Given the description of an element on the screen output the (x, y) to click on. 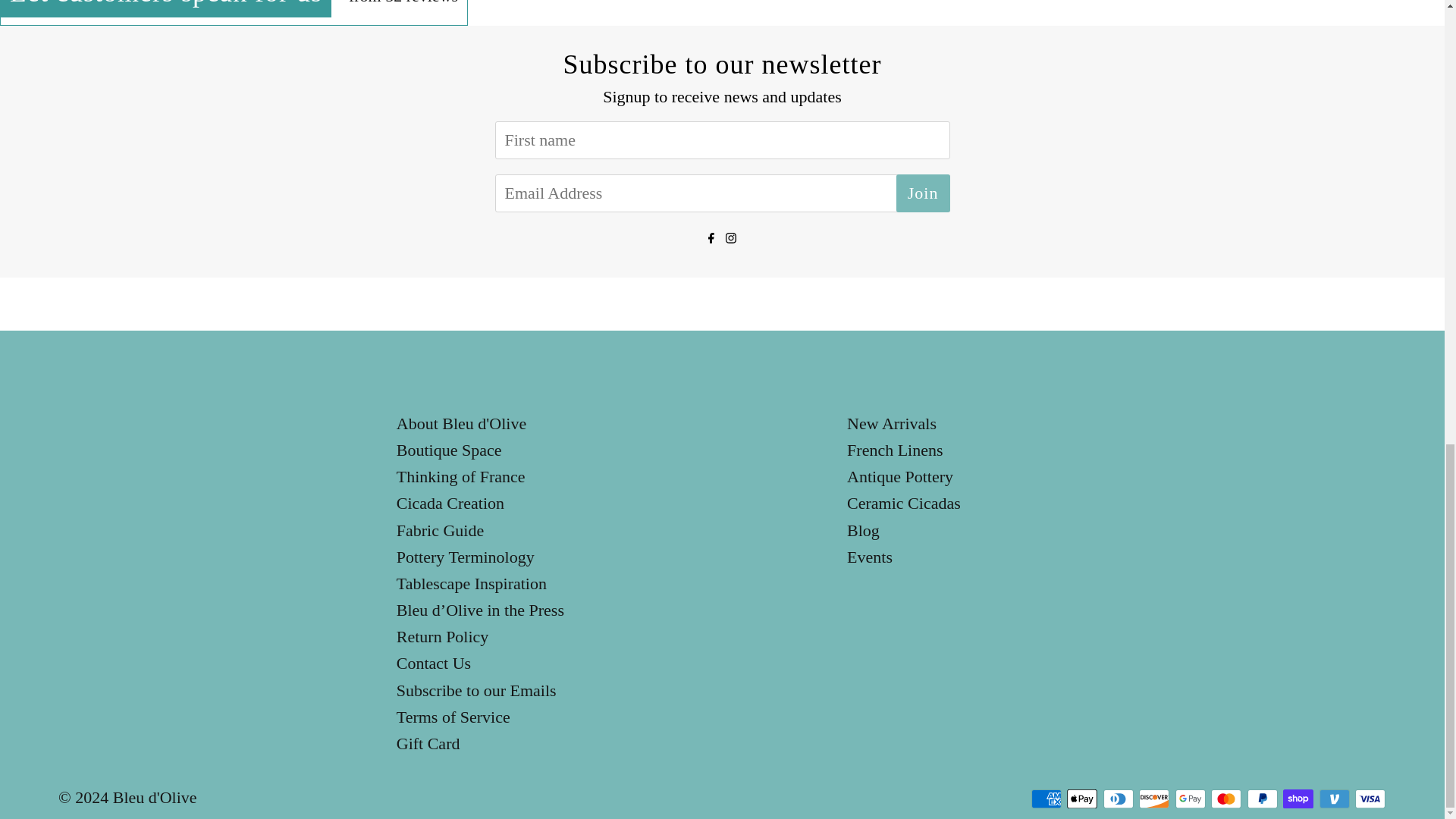
Apple Pay (1082, 798)
American Express (1045, 798)
Diners Club (1117, 798)
